Given the description of an element on the screen output the (x, y) to click on. 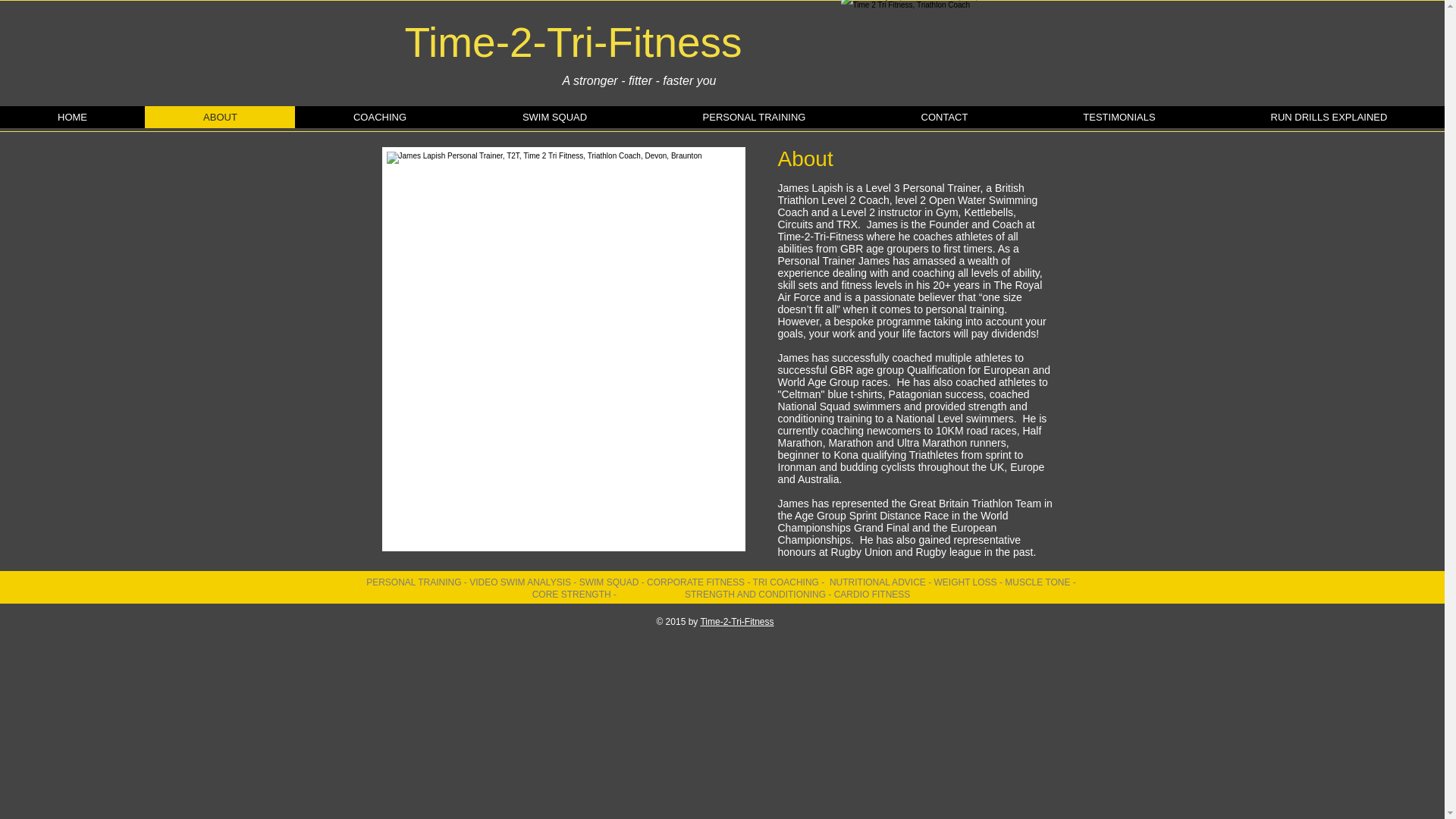
PERSONAL TRAINING (754, 116)
HOME (72, 116)
TESTIMONIALS (1118, 116)
CONTACT (944, 116)
COACHING (379, 116)
Time-2-Tri-Fitness.co.uk (915, 52)
Time-2-Tri-Fitness (736, 621)
SWIM SQUAD (554, 116)
ABOUT (219, 116)
